Given the description of an element on the screen output the (x, y) to click on. 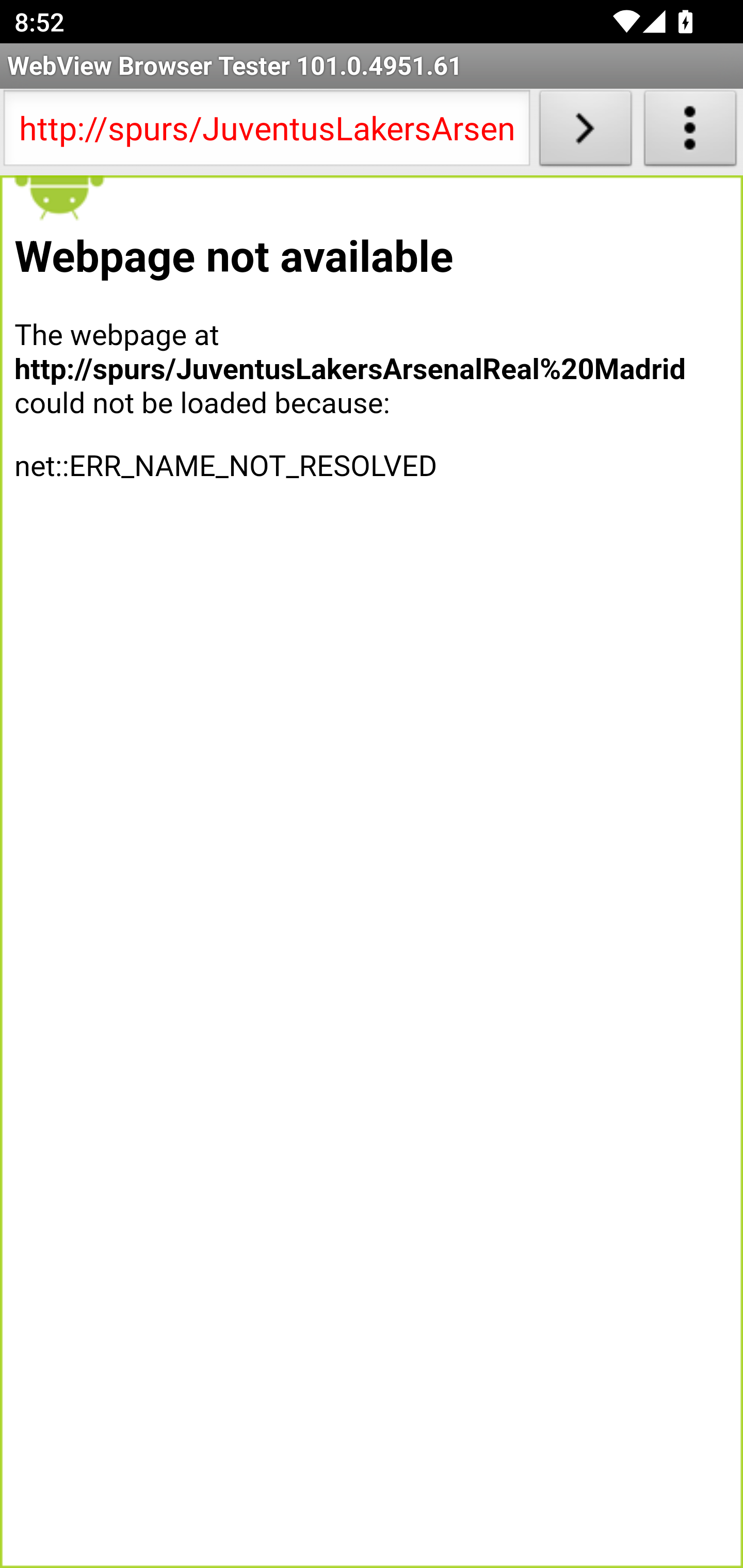
http://spurs/JuventusLakersArsenalReal%20Madrid (266, 132)
Load URL (585, 132)
About WebView (690, 132)
